Given the description of an element on the screen output the (x, y) to click on. 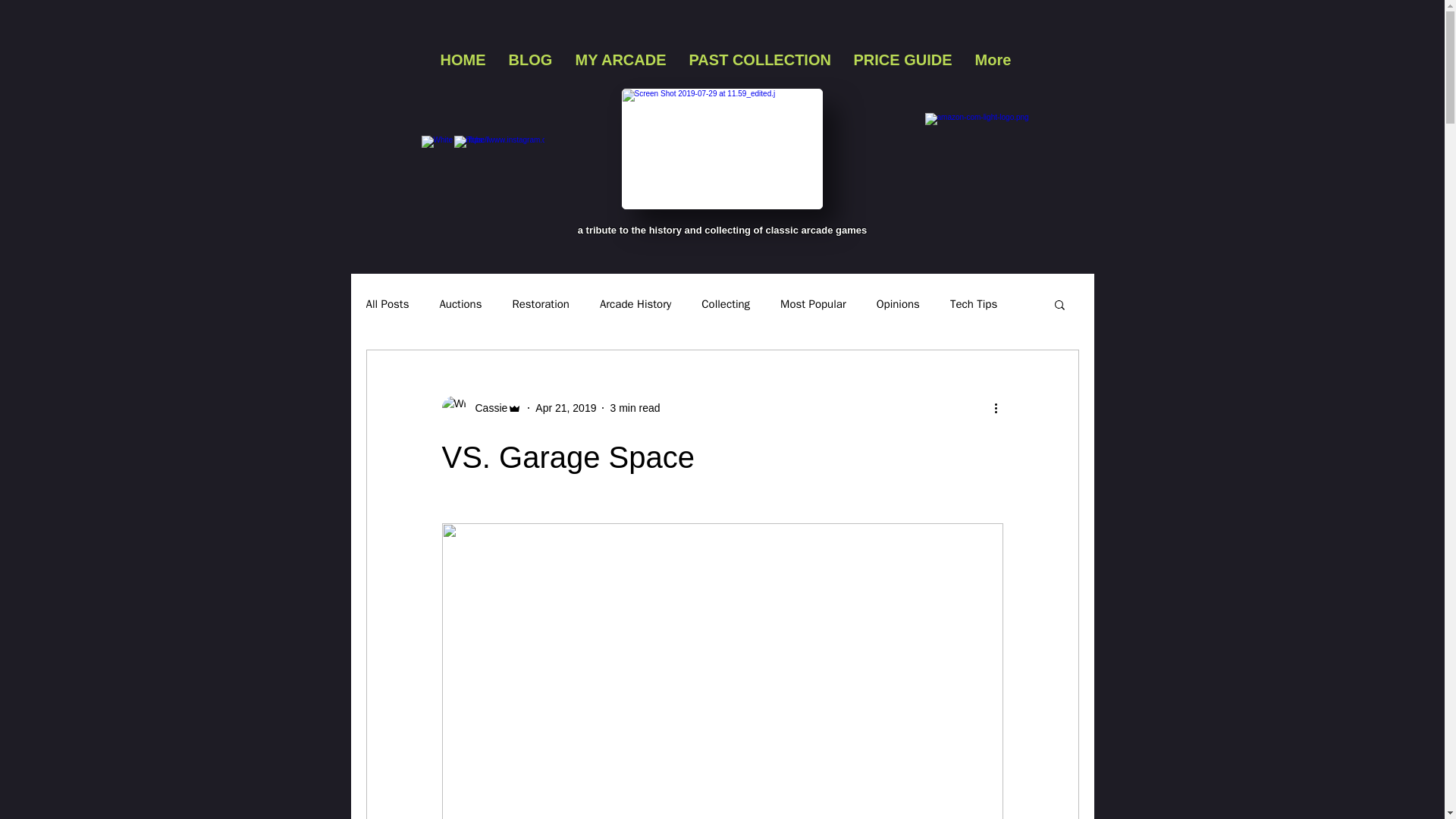
HOME (463, 59)
Restoration (540, 304)
Cassie (485, 408)
MY ARCADE (621, 59)
BLOG (530, 59)
Tech Tips (973, 304)
Most Popular (812, 304)
PRICE GUIDE (901, 59)
Arcade History (635, 304)
Apr 21, 2019 (565, 408)
